Given the description of an element on the screen output the (x, y) to click on. 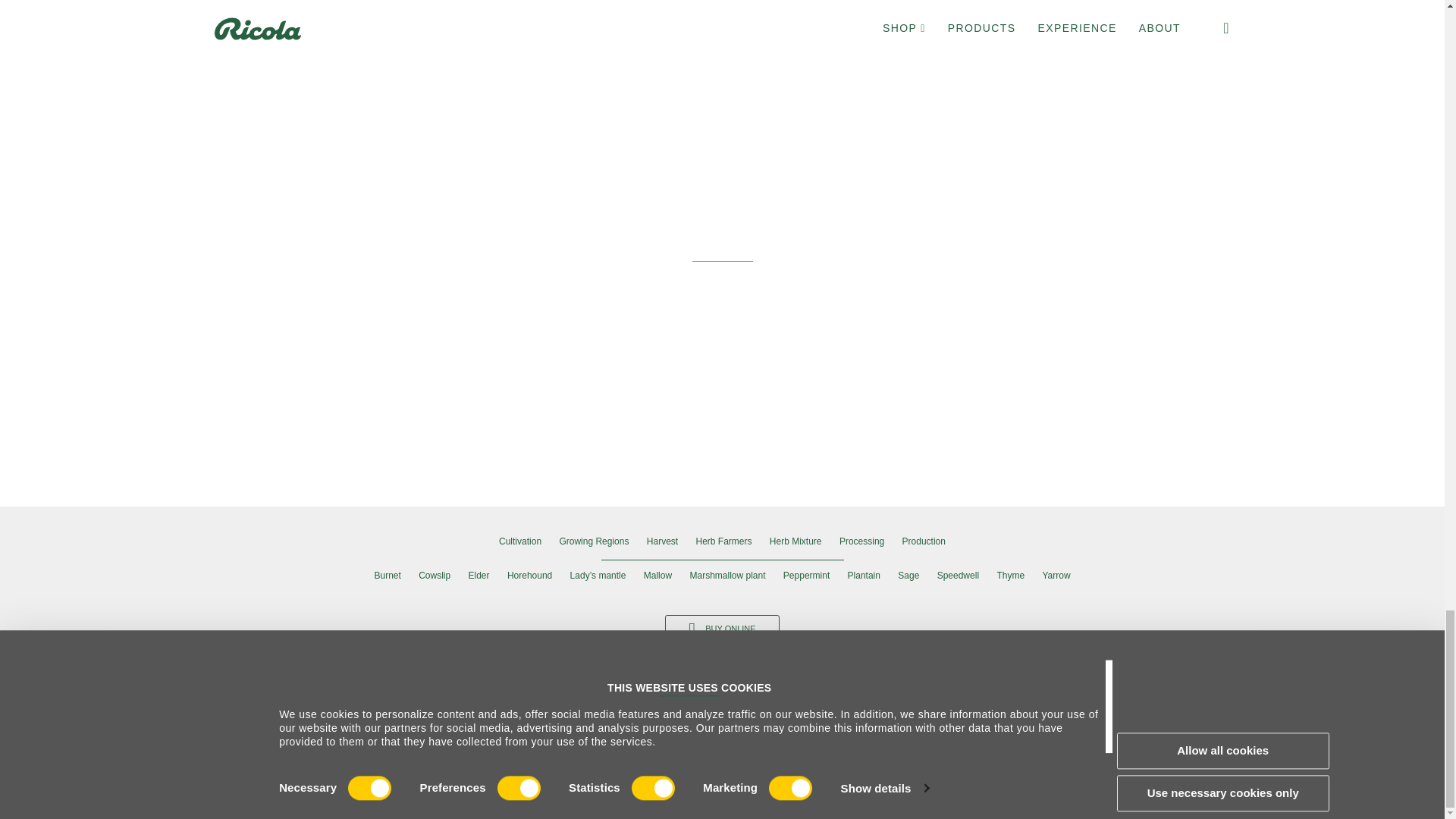
Harvest (662, 541)
Cultivation (520, 541)
Growing Regions (593, 541)
